Given the description of an element on the screen output the (x, y) to click on. 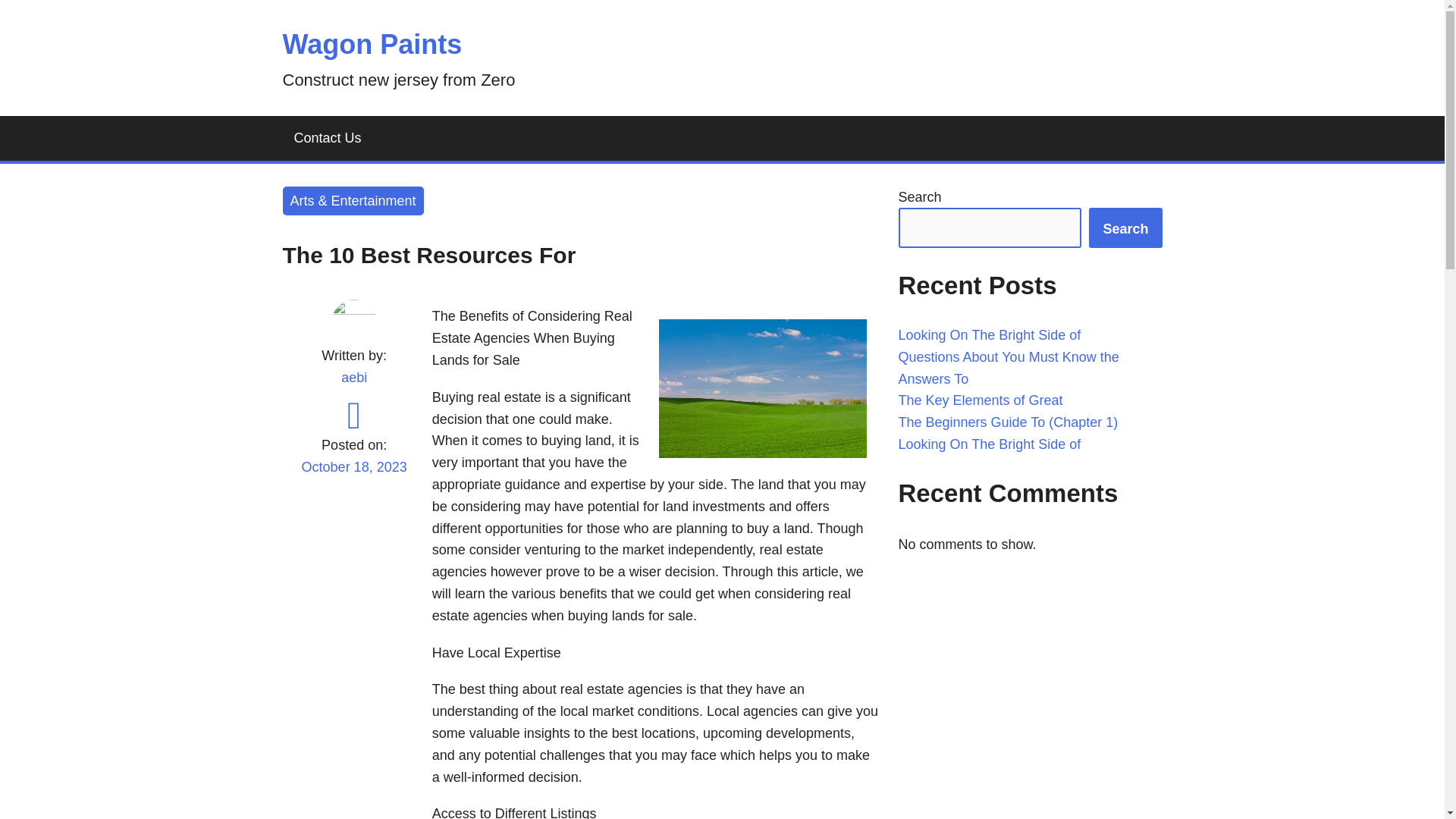
The Key Elements of Great (980, 400)
Contact Us (327, 138)
aebi (353, 377)
Wagon Paints (371, 43)
Looking On The Bright Side of (989, 335)
Search (1125, 228)
October 18, 2023 (353, 476)
Looking On The Bright Side of (989, 444)
Questions About You Must Know the Answers To (1008, 367)
